Given the description of an element on the screen output the (x, y) to click on. 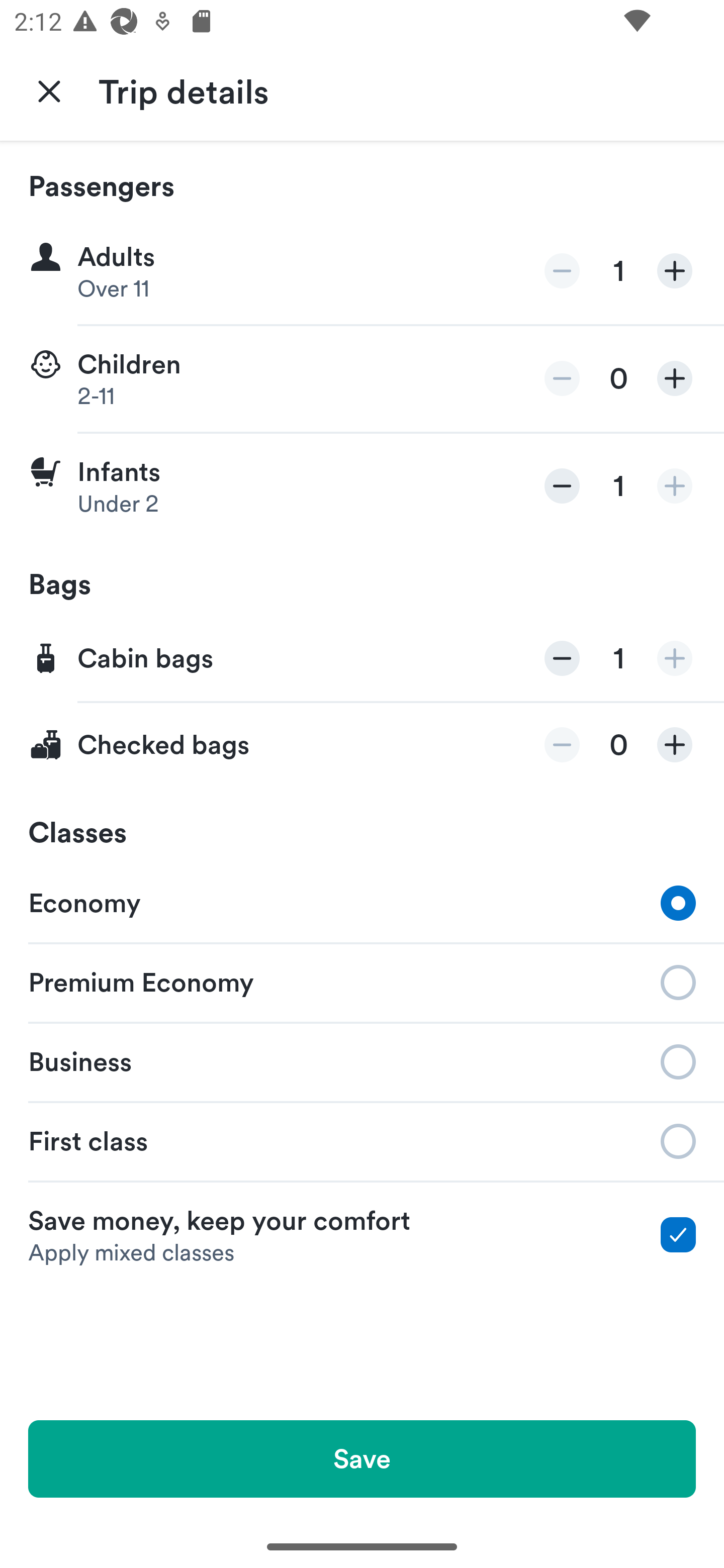
Navigate up (49, 90)
Remove 1 Add Adults Over 11 (362, 271)
Remove (561, 270)
Add (674, 270)
Remove 0 Add Children 2-11 (362, 379)
Remove (561, 377)
Add (674, 377)
Remove 1 Add Infants Under 2 (362, 485)
Remove (561, 485)
Add (674, 485)
Remove 1 Add Cabin bags (362, 659)
Remove (561, 658)
Add (674, 658)
Remove 0 Add Checked bags (362, 744)
Remove (561, 744)
Add (674, 744)
Premium Economy (362, 980)
Business (362, 1060)
First class (362, 1141)
Save (361, 1458)
